Given the description of an element on the screen output the (x, y) to click on. 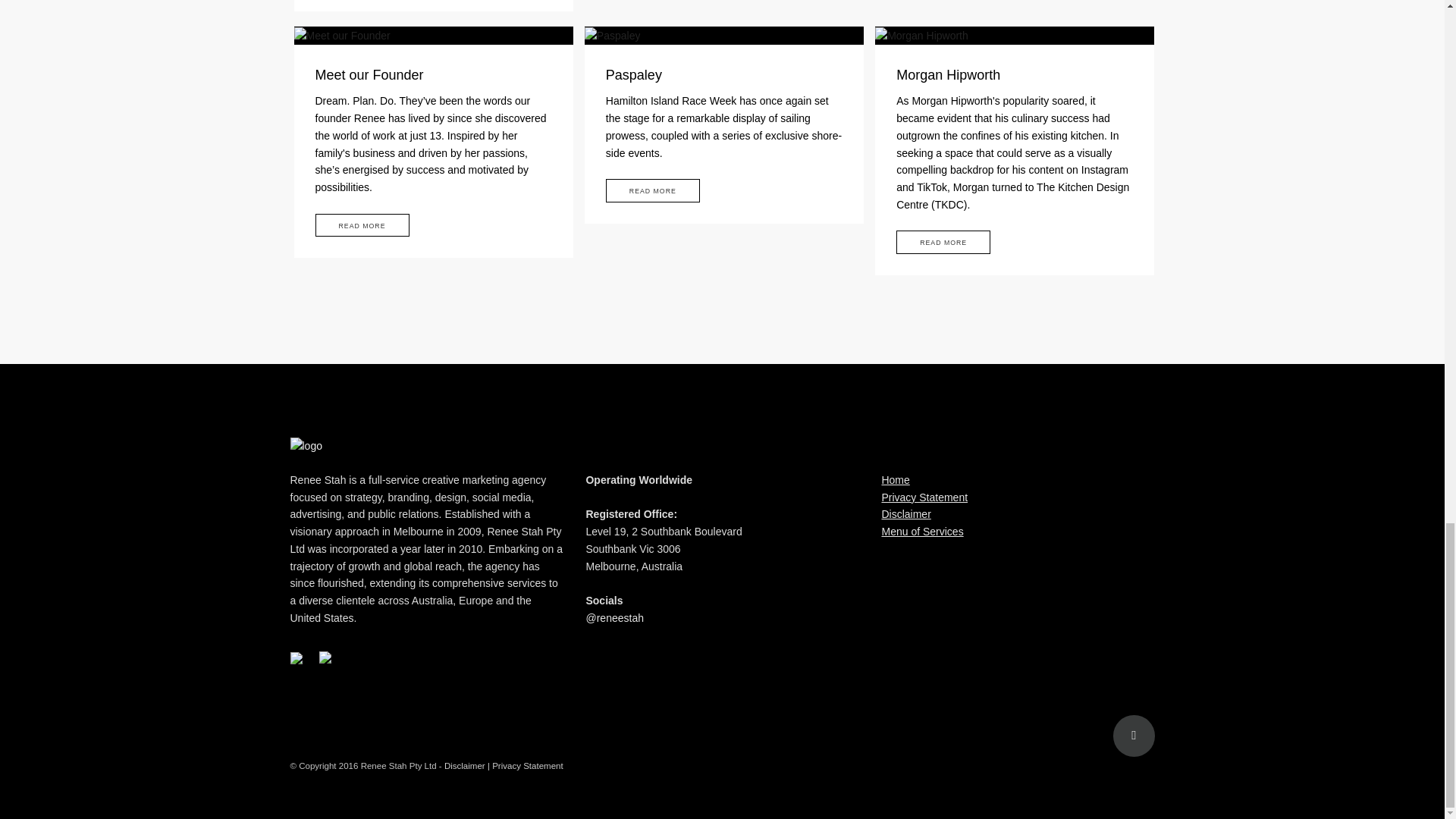
Home (894, 480)
Privacy Statement (527, 765)
Disclaimer (905, 513)
READ MORE (652, 190)
READ MORE (362, 225)
Menu of Services (921, 531)
Privacy Statement (924, 497)
READ MORE (943, 241)
Disclaimer (464, 765)
